Given the description of an element on the screen output the (x, y) to click on. 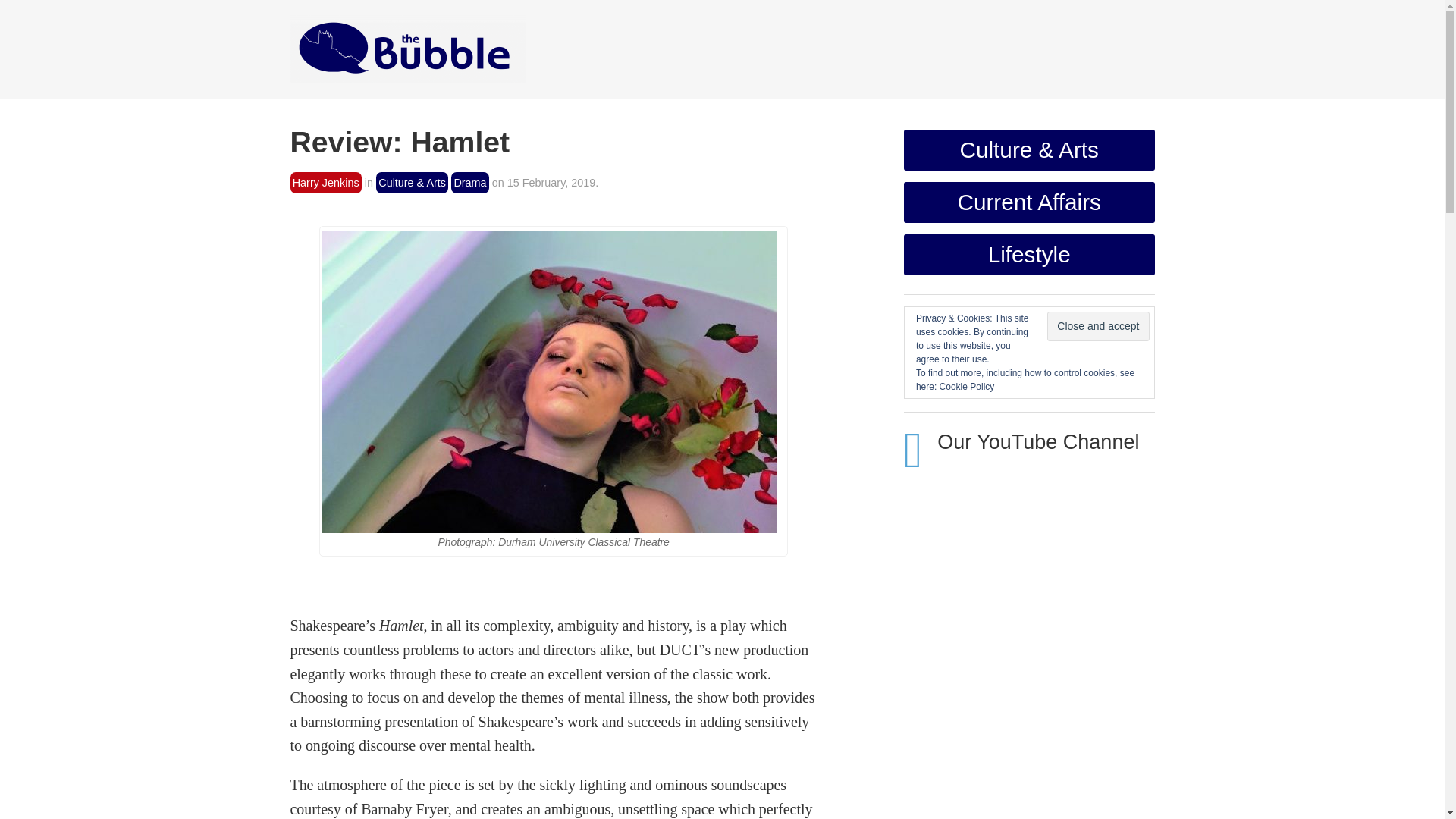
Harry Jenkins (325, 182)
Close and accept (1097, 326)
Close and accept (1097, 326)
Drama (470, 182)
